Given the description of an element on the screen output the (x, y) to click on. 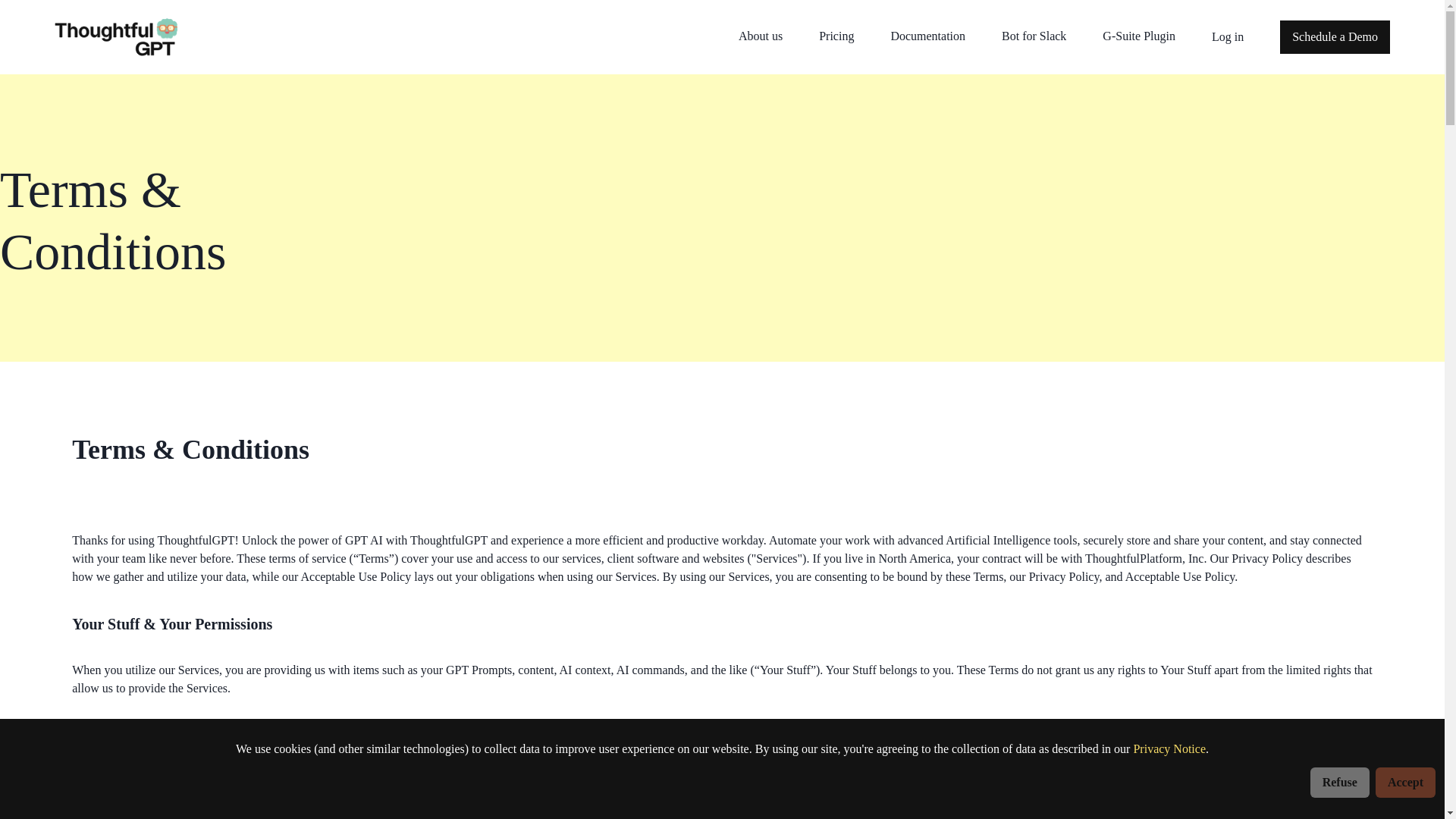
Documentation (927, 36)
Bot for Slack (1033, 36)
Accept (1405, 782)
About us (760, 36)
Log in (1227, 36)
Schedule a Demo (1334, 36)
Refuse (1340, 782)
G-Suite Plugin (1138, 36)
Pricing (835, 36)
Privacy Notice (1168, 748)
